Given the description of an element on the screen output the (x, y) to click on. 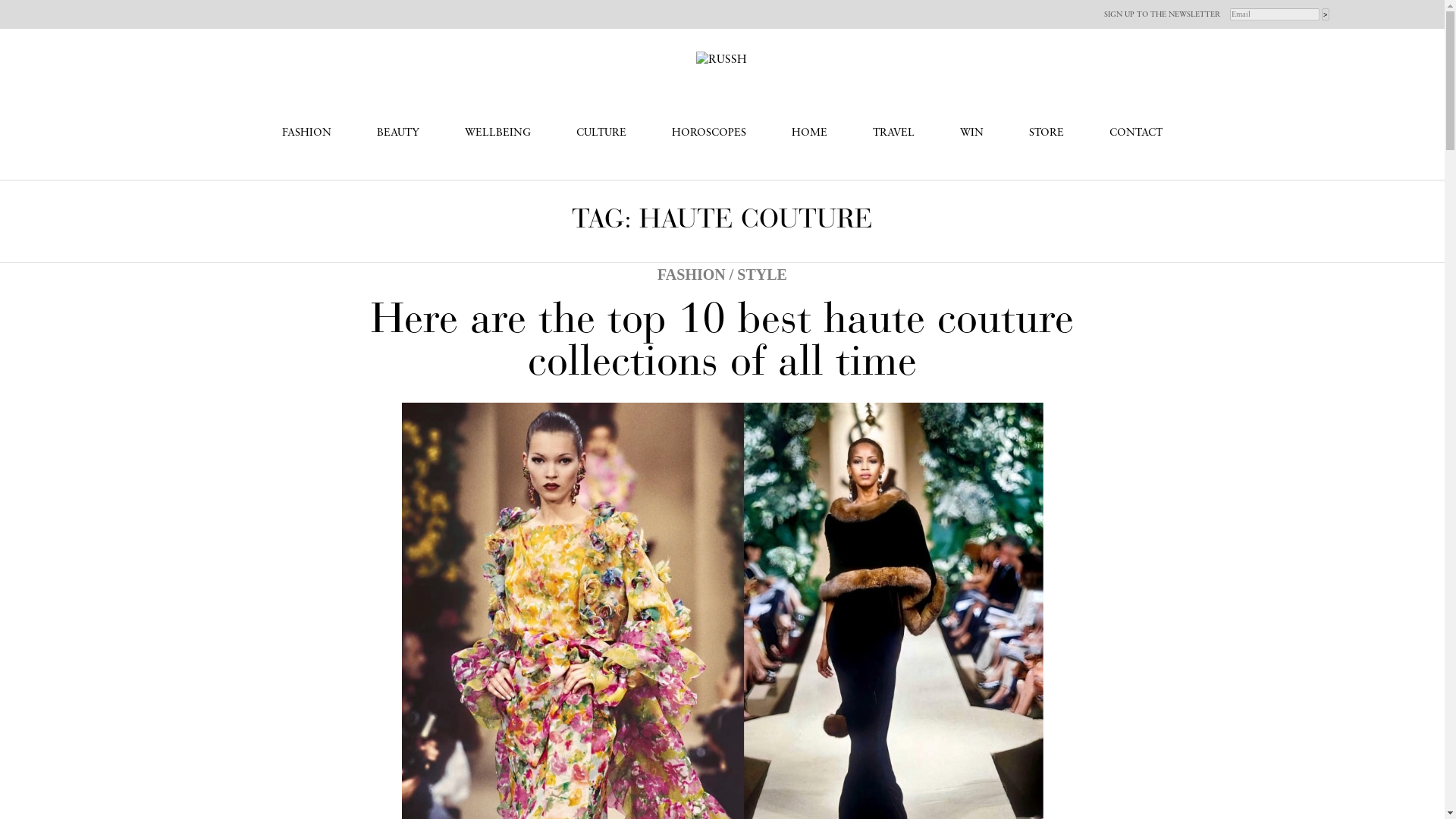
BEAUTY (398, 132)
CULTURE (601, 132)
WELLBEING (497, 132)
FASHION (306, 132)
